Given the description of an element on the screen output the (x, y) to click on. 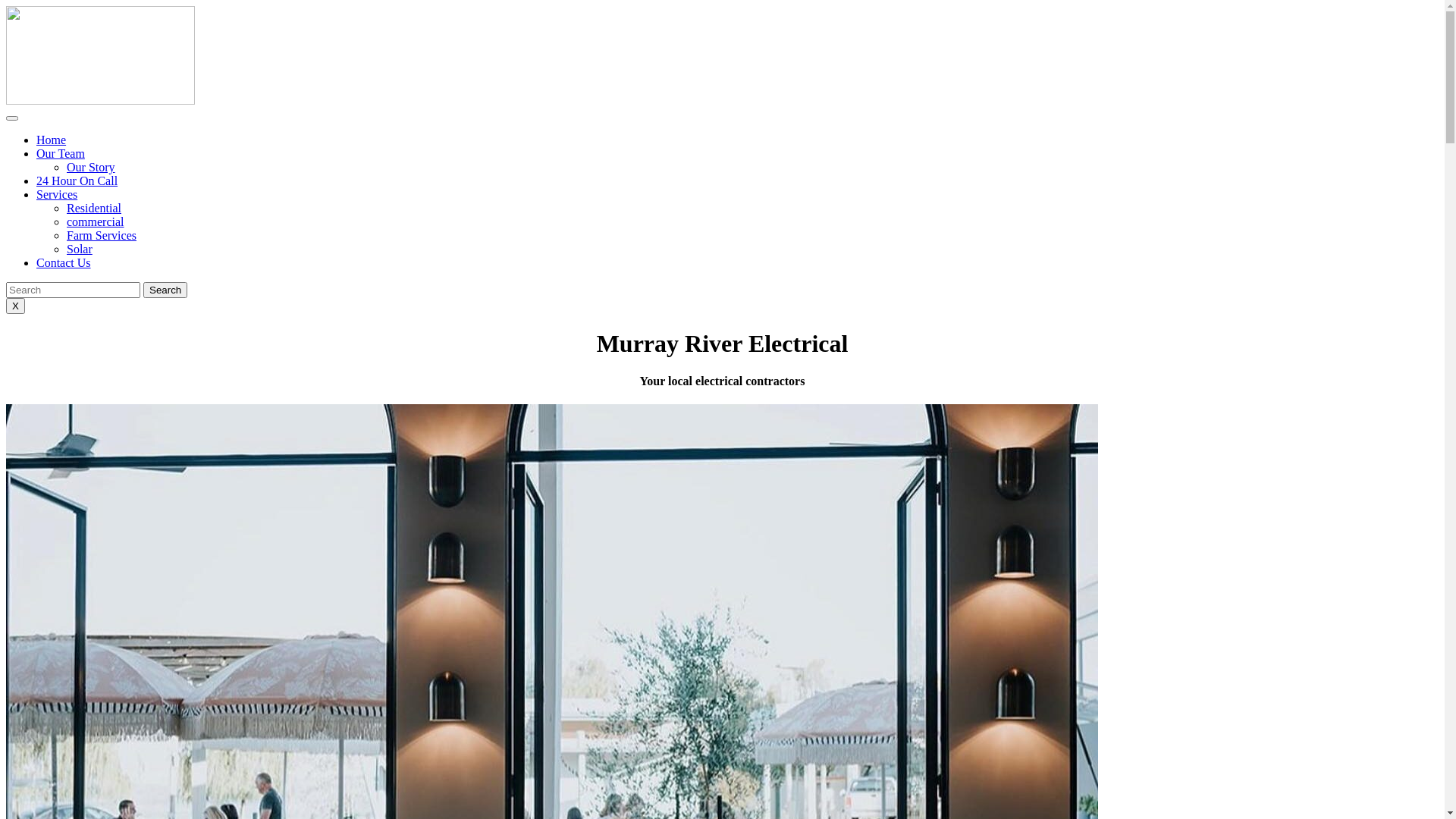
Residential Element type: text (93, 207)
Open Menu Element type: text (12, 118)
Contact Us Element type: text (63, 262)
Solar Element type: text (79, 248)
Home Element type: text (50, 139)
Services Element type: text (56, 194)
commercial Element type: text (95, 221)
Our Story Element type: text (90, 166)
24 Hour On Call Element type: text (76, 180)
Farm Services Element type: text (101, 235)
X Element type: text (15, 305)
Search Element type: text (165, 290)
Skip to content Element type: text (5, 5)
Our Team Element type: text (60, 153)
